Given the description of an element on the screen output the (x, y) to click on. 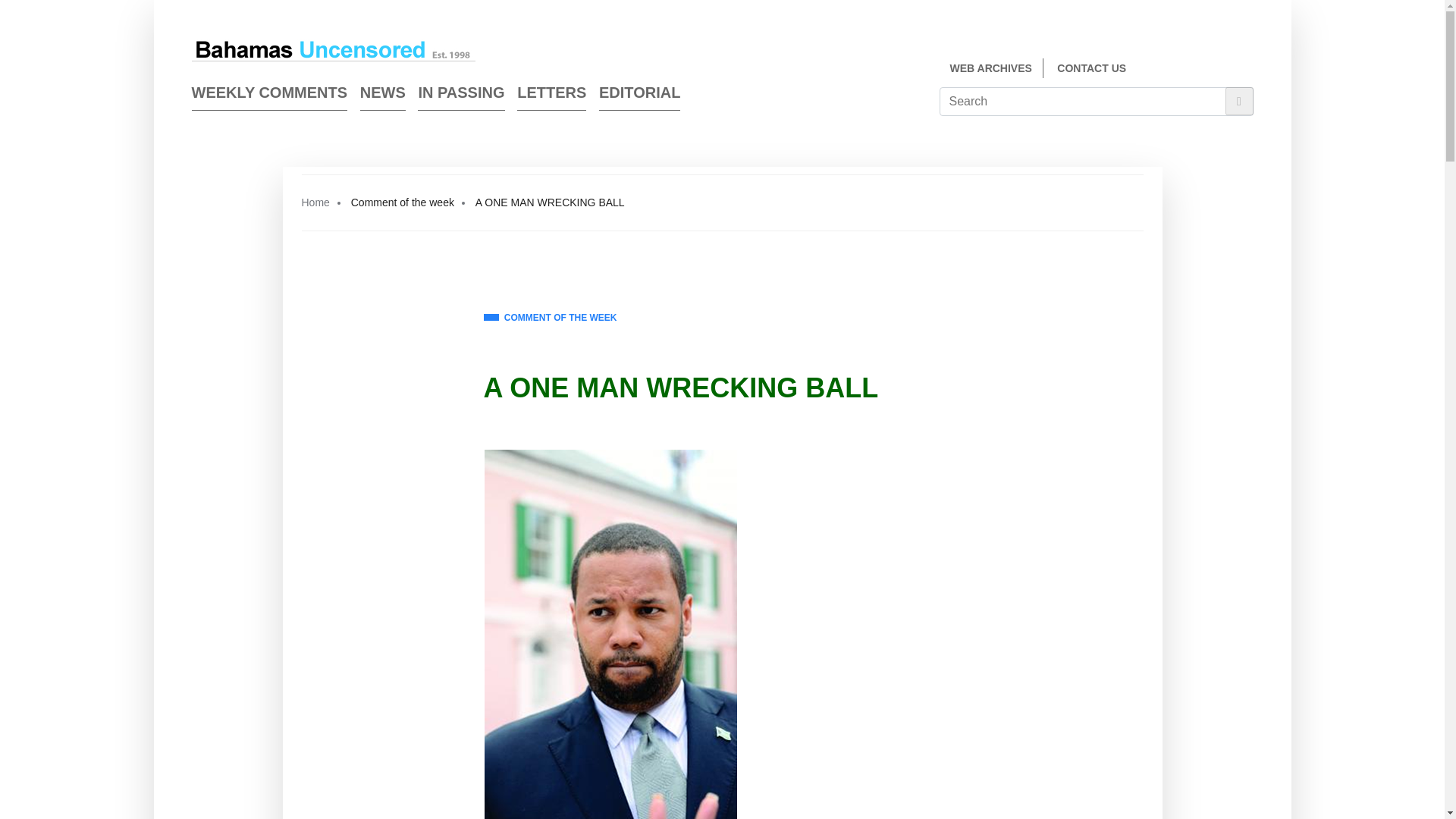
CONTACT US (1091, 67)
Face Book (1218, 69)
EDITORIAL (638, 95)
WEEKLY COMMENTS (268, 95)
Twitter (1246, 69)
COMMENT OF THE WEEK (550, 318)
NEWS (382, 95)
LETTERS (551, 95)
Home (315, 202)
WEB ARCHIVES (989, 67)
IN PASSING (460, 95)
